Given the description of an element on the screen output the (x, y) to click on. 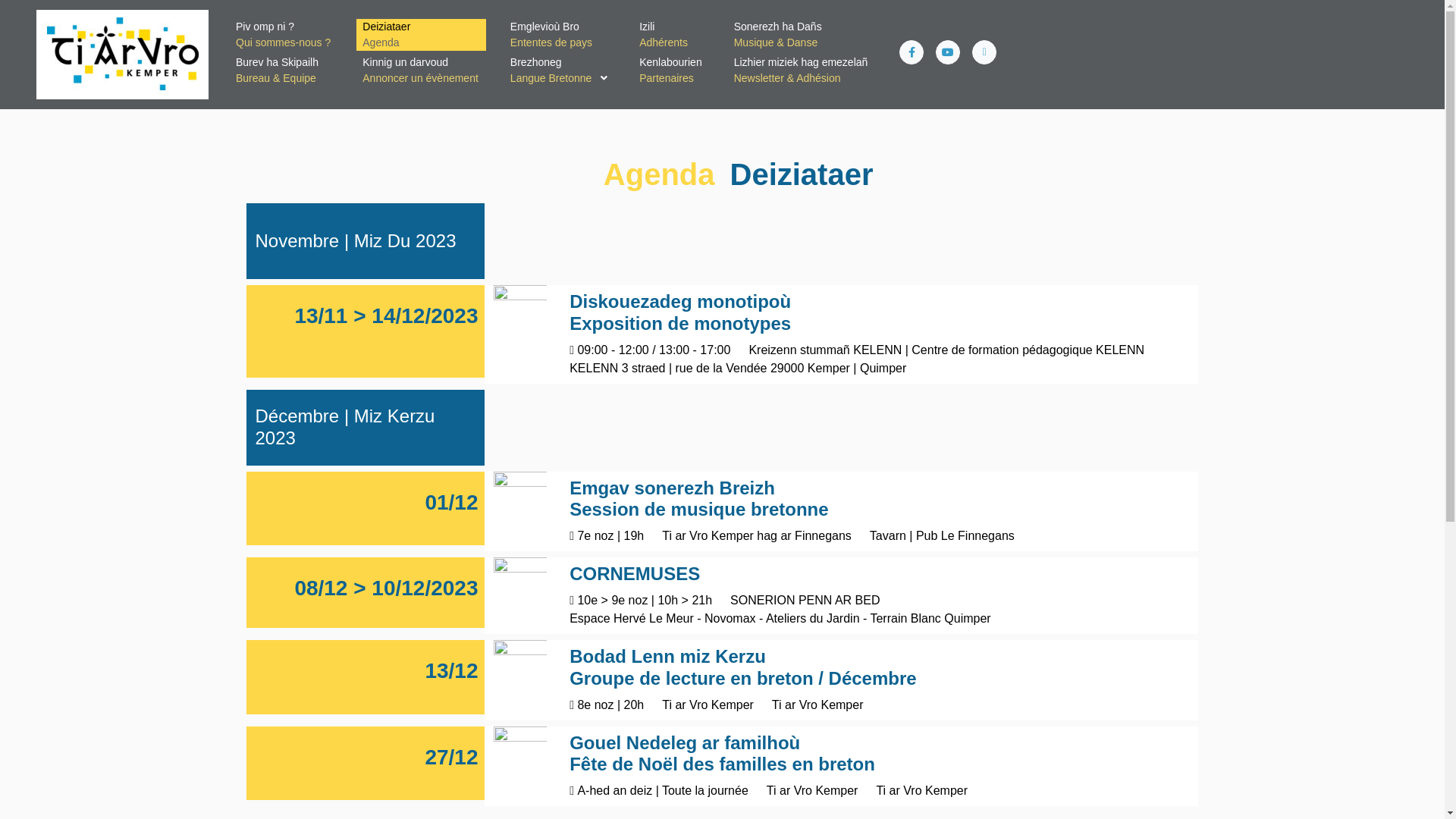
Kenlabourien
Partenaires Element type: text (671, 70)
Burev ha Skipailh
Bureau & Equipe Element type: text (283, 70)
Deiziataer
Agenda Element type: text (421, 34)
Piv omp ni ?
Qui sommes-nous ? Element type: text (283, 34)
Brezhoneg
Langue Bretonne Element type: text (559, 70)
